Given the description of an element on the screen output the (x, y) to click on. 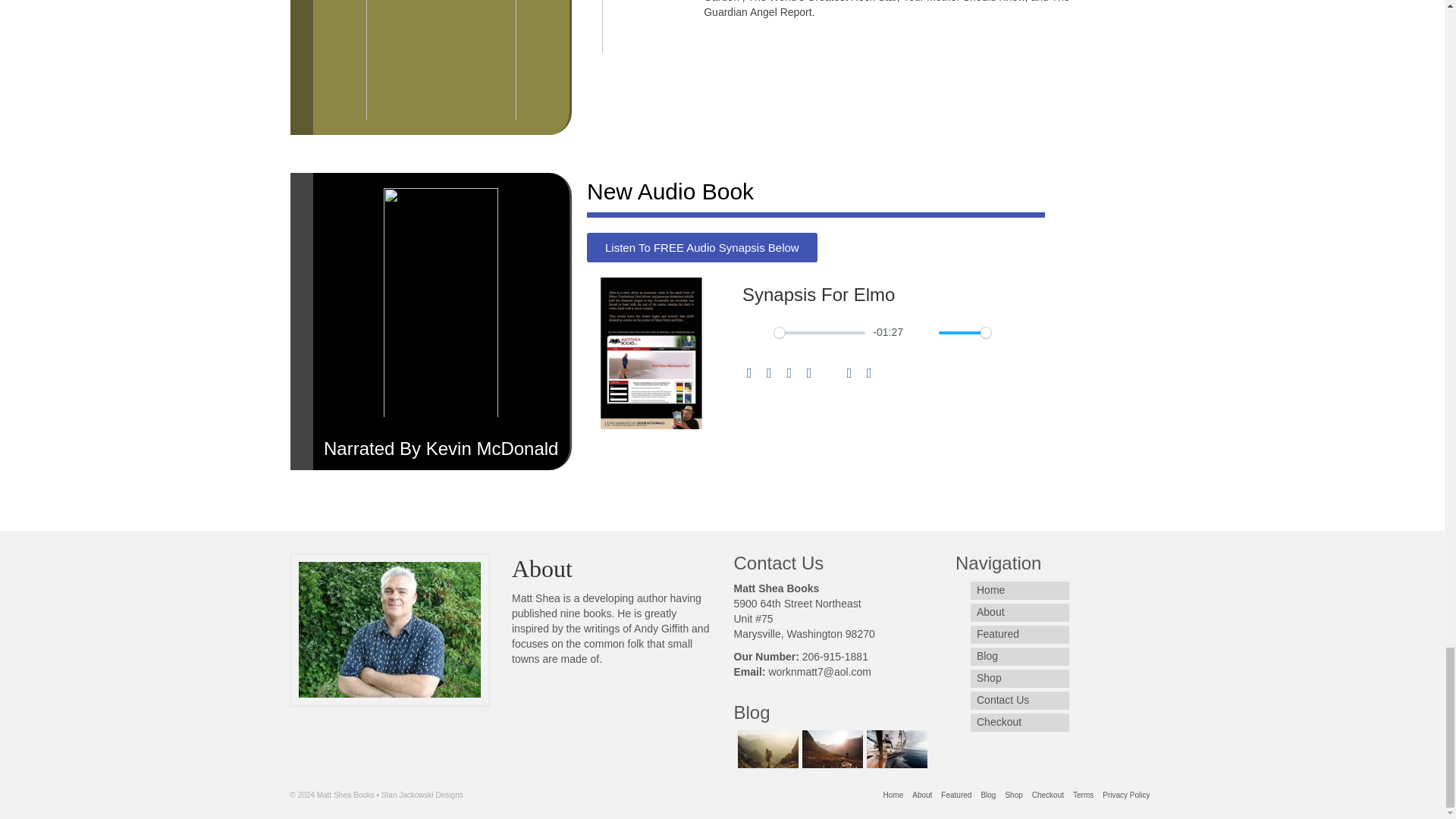
A Barrel Full Of Monkeys (895, 749)
1 (965, 332)
0 (819, 332)
Synapsis For Elmo (895, 294)
Elmo (765, 749)
